Given the description of an element on the screen output the (x, y) to click on. 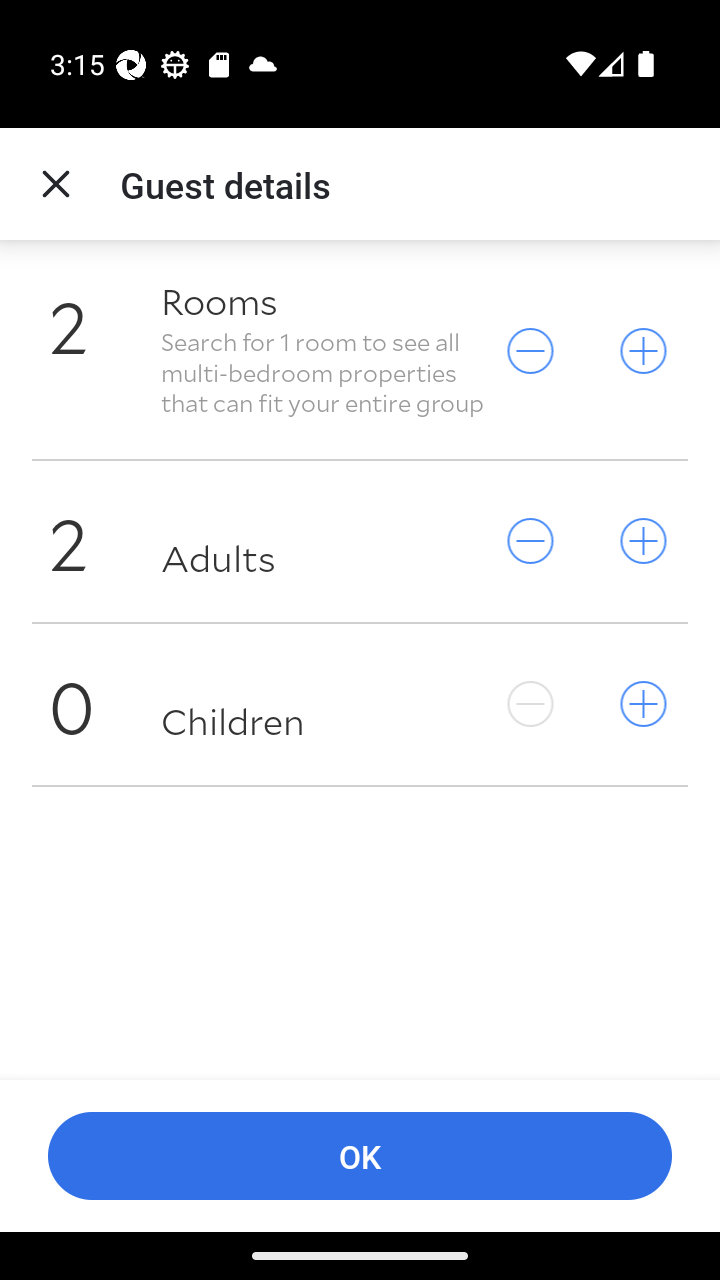
OK (359, 1156)
